Given the description of an element on the screen output the (x, y) to click on. 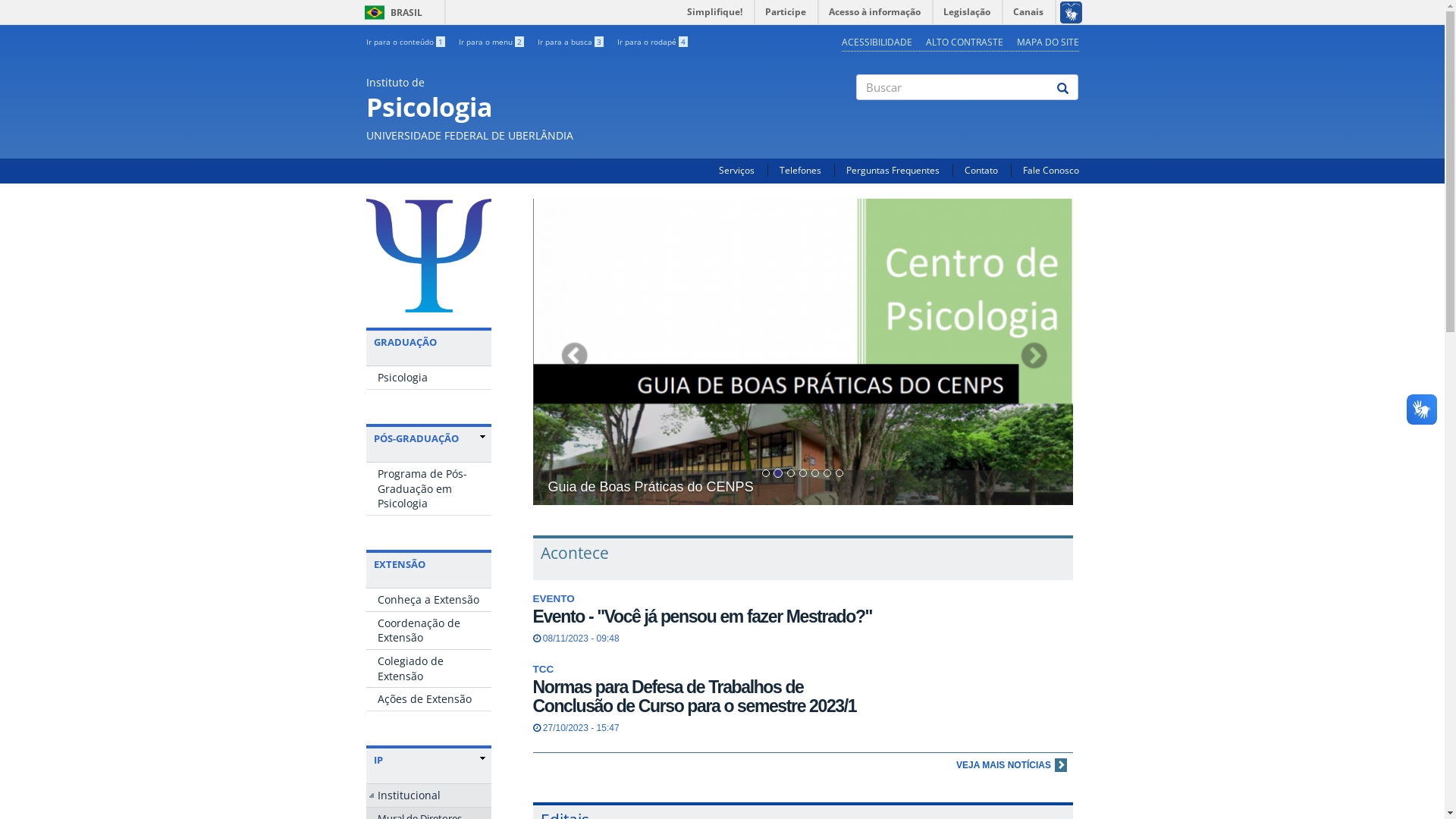
Ir para o menu 2 Element type: text (490, 41)
Fale Conosco Element type: text (1050, 169)
Logotipo da Unidade Element type: hover (427, 255)
ALTO CONTRASTE Element type: text (963, 41)
Institucional Element type: text (427, 795)
Previous Element type: text (572, 351)
Psicologia Element type: text (427, 377)
Buscar Element type: text (856, 112)
MAPA DO SITE Element type: text (1047, 41)
IP Element type: text (428, 759)
Contato Element type: text (980, 169)
Perguntas Frequentes Element type: text (892, 169)
BRASIL Element type: text (373, 12)
Telefones Element type: text (800, 169)
ACESSIBILIDADE Element type: text (876, 41)
Ir para a busca 3 Element type: text (569, 41)
Next Element type: text (1032, 351)
